Given the description of an element on the screen output the (x, y) to click on. 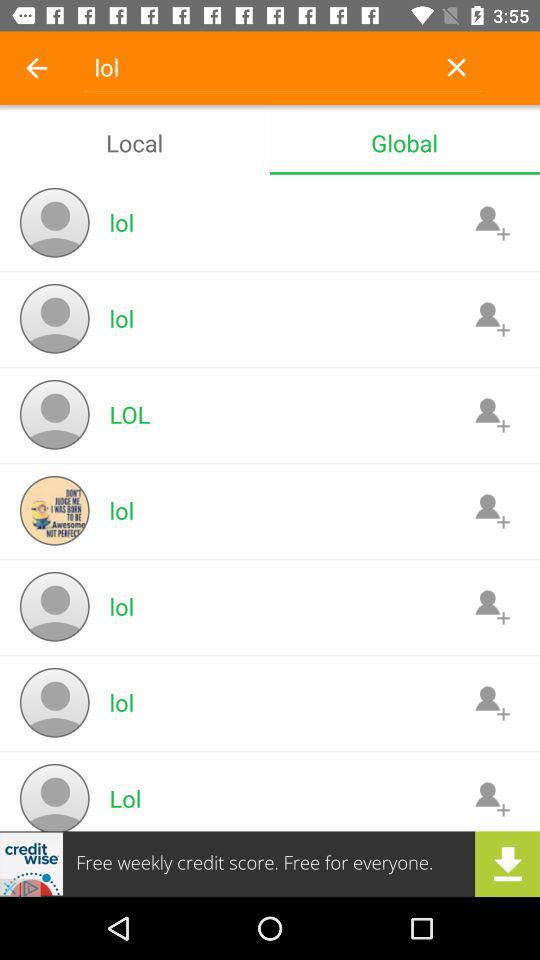
contact (492, 606)
